Given the description of an element on the screen output the (x, y) to click on. 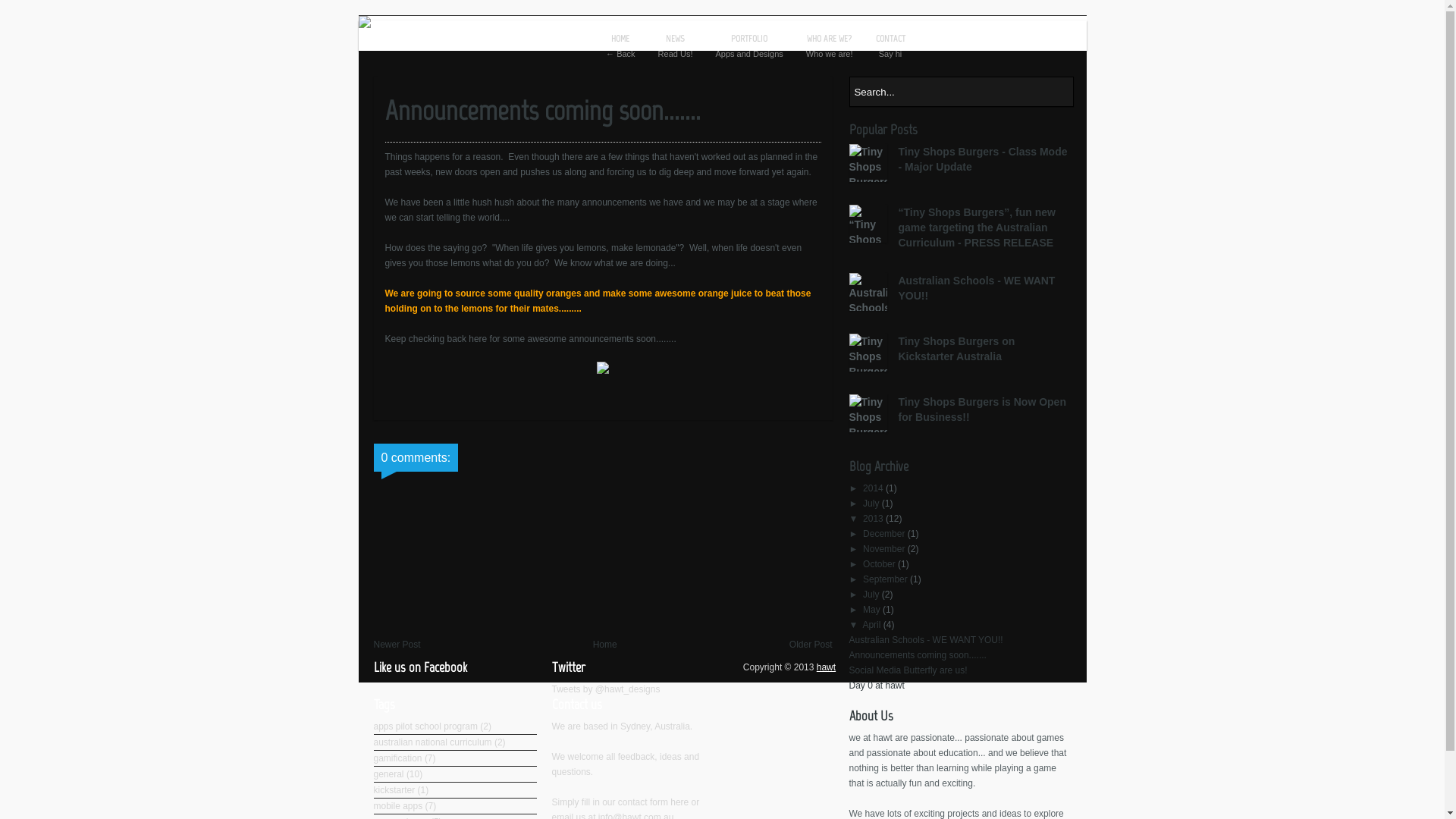
kickstarter Element type: text (393, 789)
October Element type: text (879, 563)
Search... Element type: hover (946, 91)
australian national curriculum Element type: text (432, 742)
contact form here Element type: text (653, 802)
Social Media Butterfly are us! Element type: text (908, 670)
Day 0 at hawt Element type: text (876, 685)
Home Element type: text (605, 644)
general Element type: text (388, 773)
Australian Schools - WE WANT YOU!! Element type: text (975, 287)
mobile apps Element type: text (397, 805)
December Element type: text (884, 533)
Tweets by @hawt_designs Element type: text (606, 689)
  Element type: text (1060, 91)
May Element type: text (872, 609)
2013 Element type: text (873, 518)
apps pilot school program Element type: text (424, 726)
hawt Element type: text (825, 667)
April Element type: text (872, 624)
Announcements coming soon....... Element type: text (917, 654)
September Element type: text (886, 579)
CONTACT
Say hi Element type: text (890, 45)
Tiny Shops Burgers - Class Mode - Major Update Element type: text (981, 158)
Newer Post Element type: text (396, 644)
July Element type: text (871, 594)
2014 Element type: text (873, 488)
WHO ARE WE?
Who we are! Element type: text (829, 45)
Tiny Shops Burgers on Kickstarter Australia Element type: text (955, 348)
gamification Element type: text (397, 758)
PORTFOLIO
Apps and Designs Element type: text (748, 45)
NEWS
Read Us! Element type: text (675, 45)
July Element type: text (871, 503)
Australian Schools - WE WANT YOU!! Element type: text (926, 639)
November Element type: text (884, 548)
Tiny Shops Burgers is Now Open for Business!! Element type: text (981, 409)
Older Post Element type: text (810, 644)
